Given the description of an element on the screen output the (x, y) to click on. 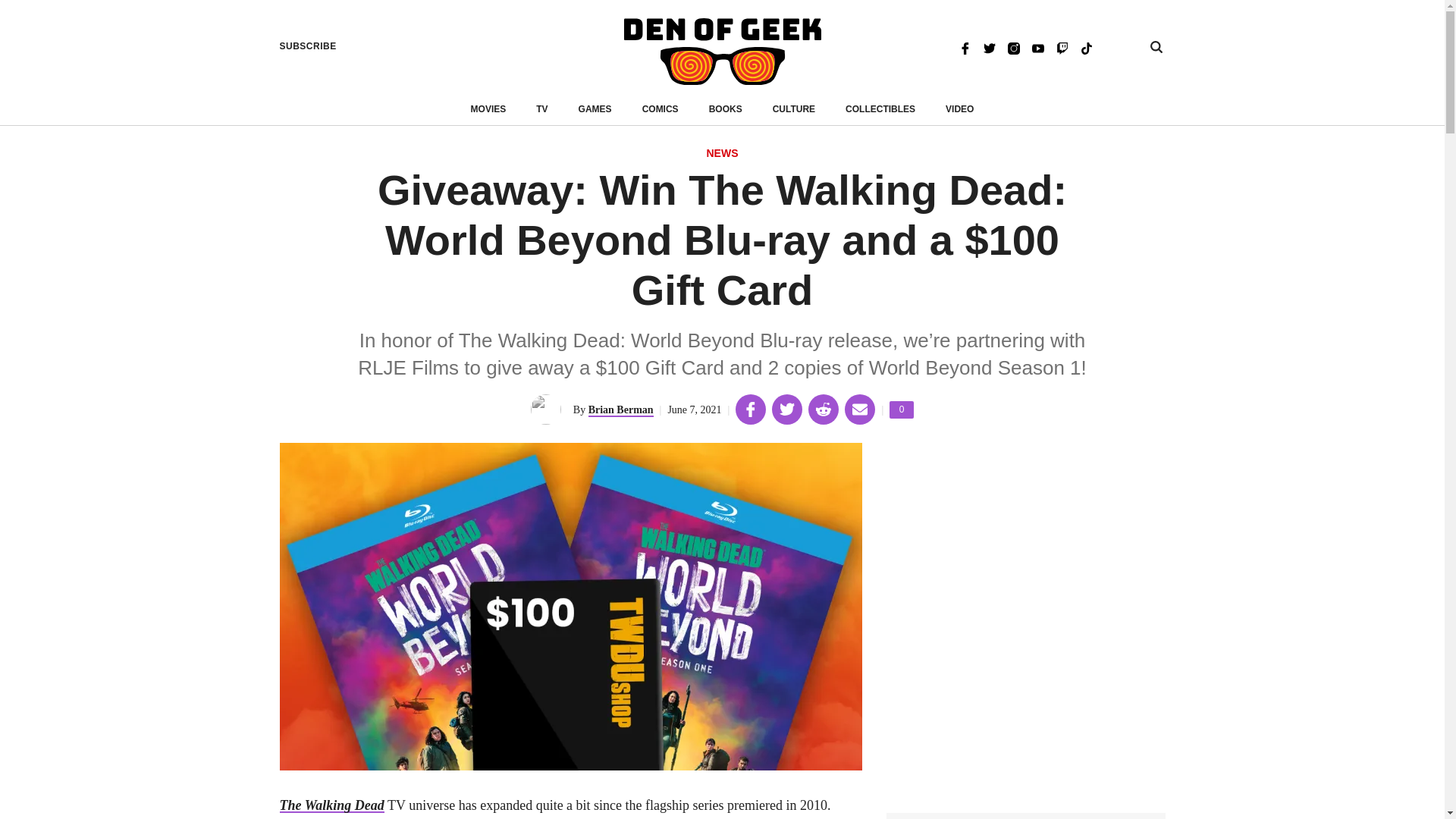
Instagram (1013, 46)
COLLECTIBLES (880, 109)
SUBSCRIBE (307, 46)
Twitch (901, 409)
NEWS (1061, 46)
COMICS (722, 153)
TikTok (660, 109)
Twitter (1085, 46)
The Walking Dead (988, 46)
